Given the description of an element on the screen output the (x, y) to click on. 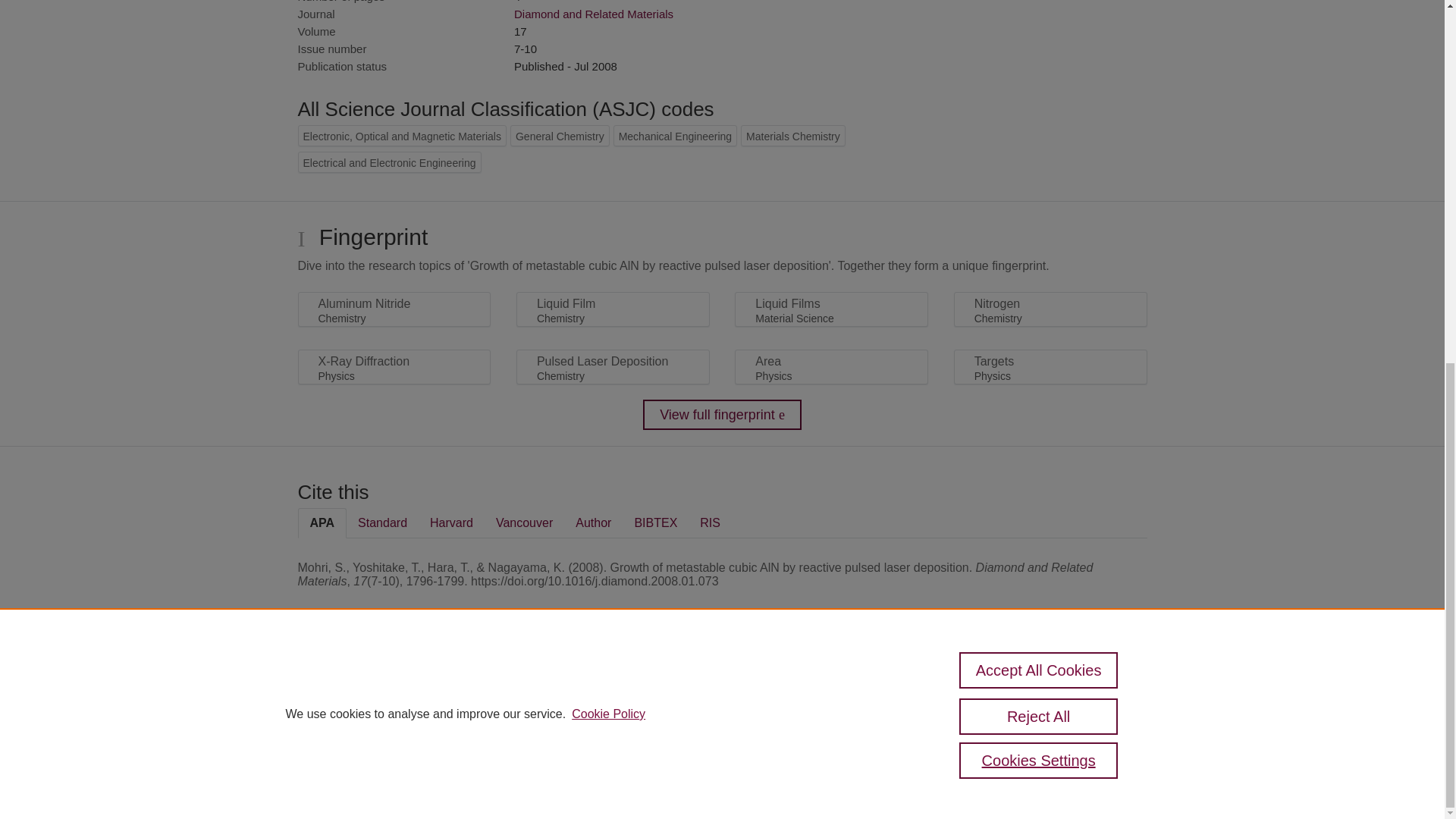
Diamond and Related Materials (592, 13)
Pure (362, 686)
Scopus (394, 686)
View full fingerprint (722, 414)
Elsevier B.V. (506, 707)
